Given the description of an element on the screen output the (x, y) to click on. 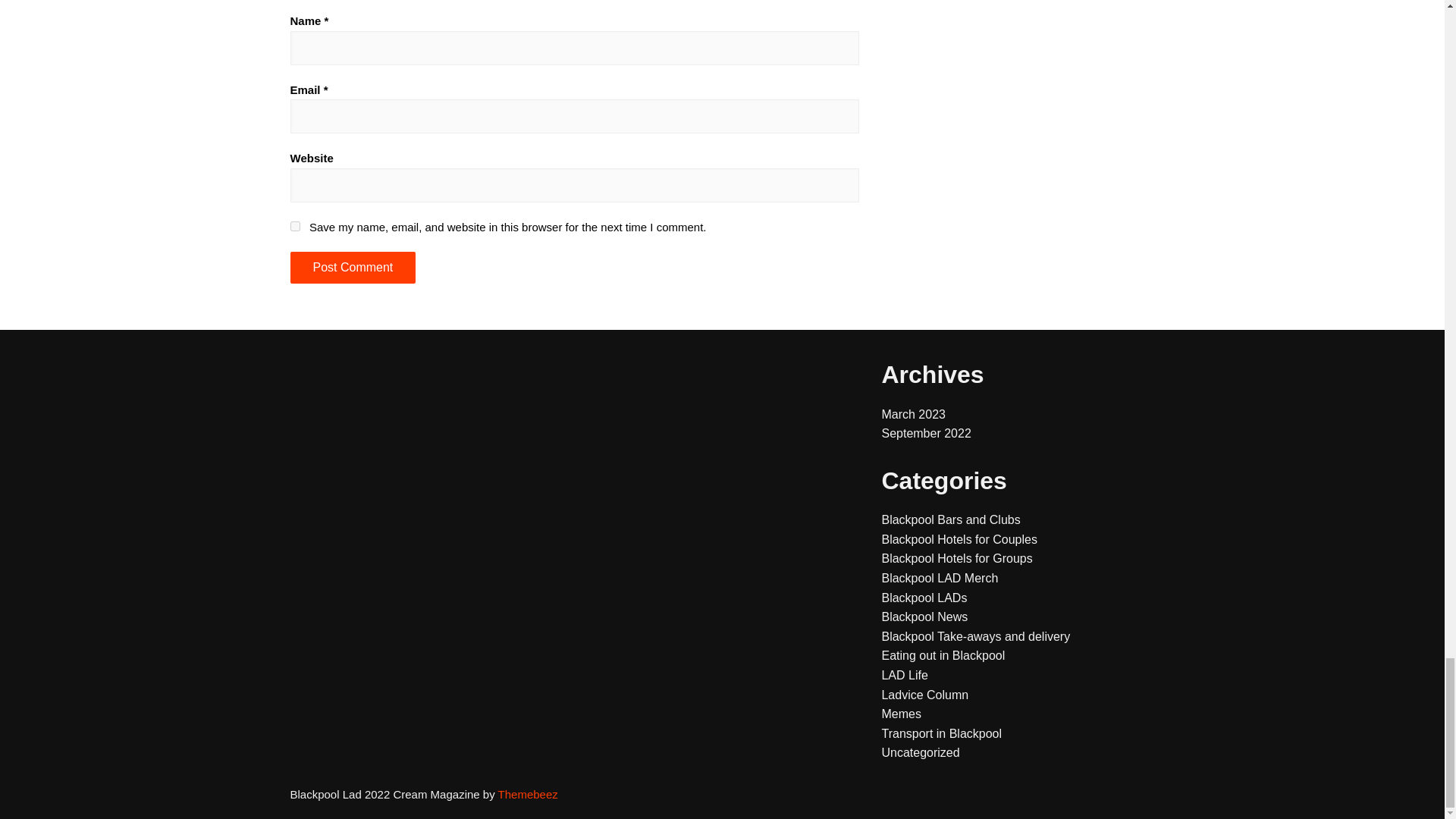
Post Comment (351, 267)
yes (294, 225)
Post Comment (351, 267)
